Given the description of an element on the screen output the (x, y) to click on. 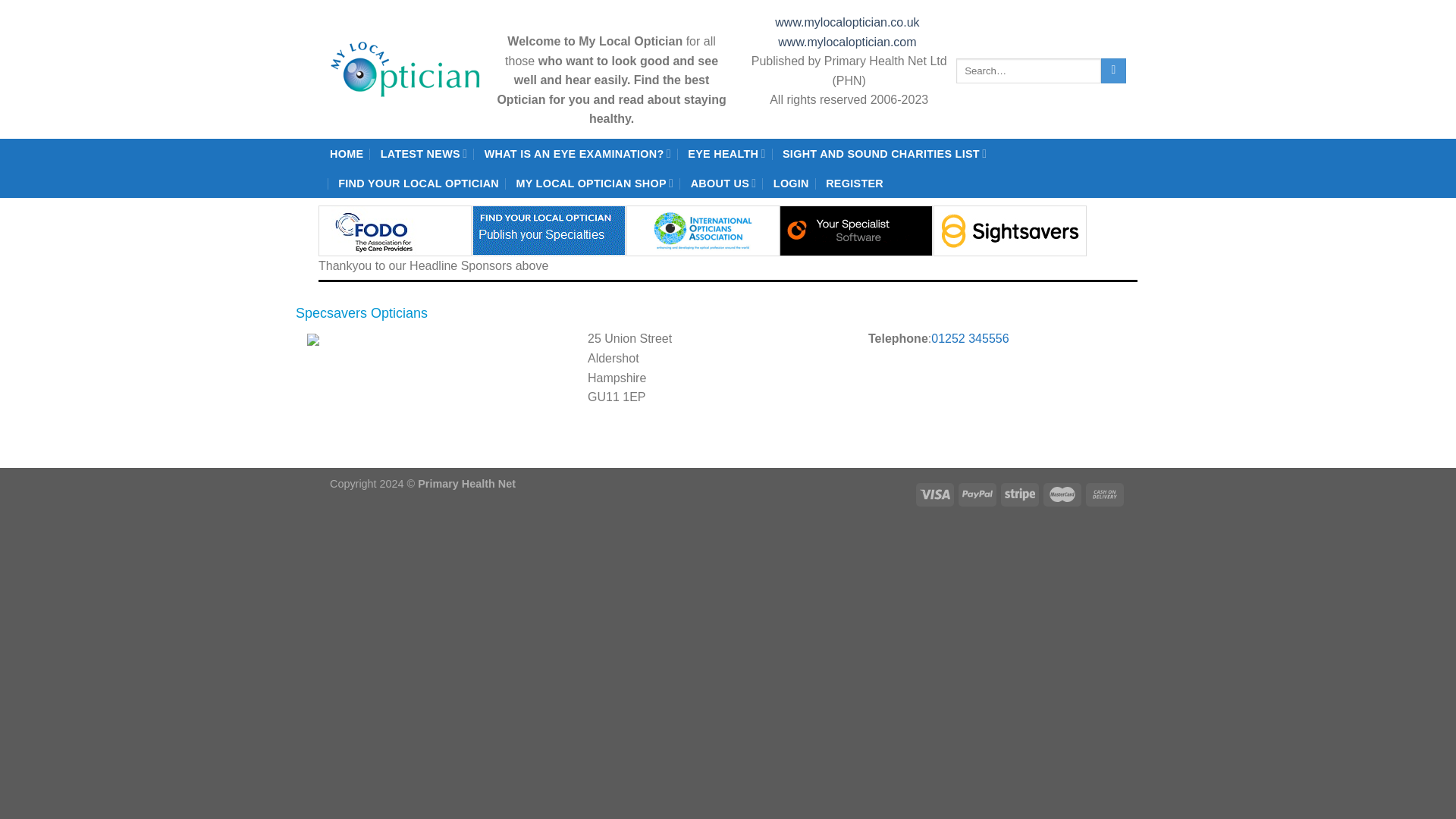
www.mylocaloptician.co.uk  (848, 21)
WHAT IS AN EYE EXAMINATION? (577, 153)
Search (1112, 71)
www.mylocaloptician.com  (848, 42)
My Local Optician - The UK Public eyecare site (405, 69)
HOME (346, 153)
EYE HEALTH (726, 153)
LATEST NEWS (423, 153)
